Given the description of an element on the screen output the (x, y) to click on. 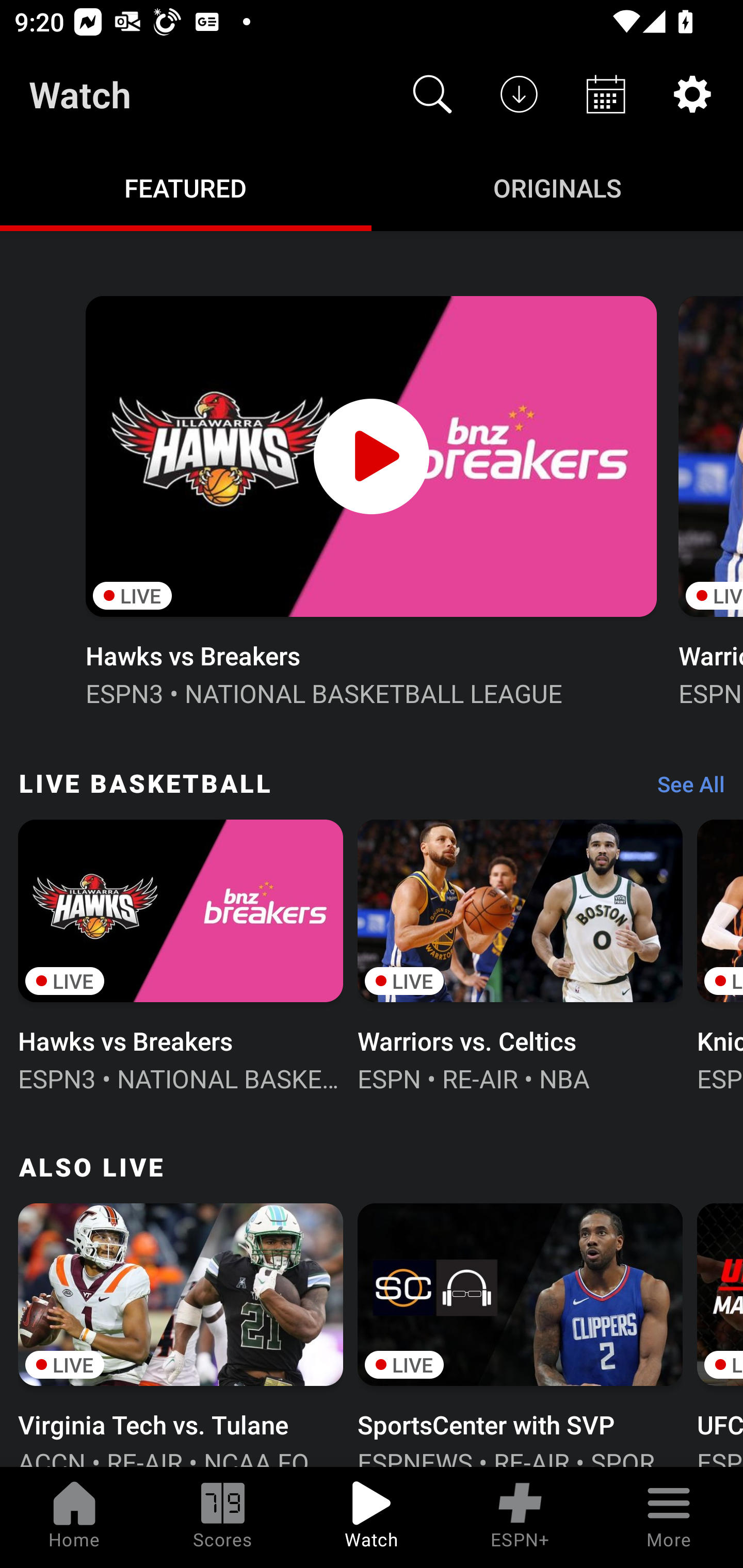
Search (432, 93)
Downloads (518, 93)
Schedule (605, 93)
Settings (692, 93)
Originals ORIGINALS (557, 187)
See All (683, 788)
LIVE Warriors vs. Celtics ESPN • RE-AIR • NBA (519, 954)
Home (74, 1517)
Scores (222, 1517)
ESPN+ (519, 1517)
More (668, 1517)
